Given the description of an element on the screen output the (x, y) to click on. 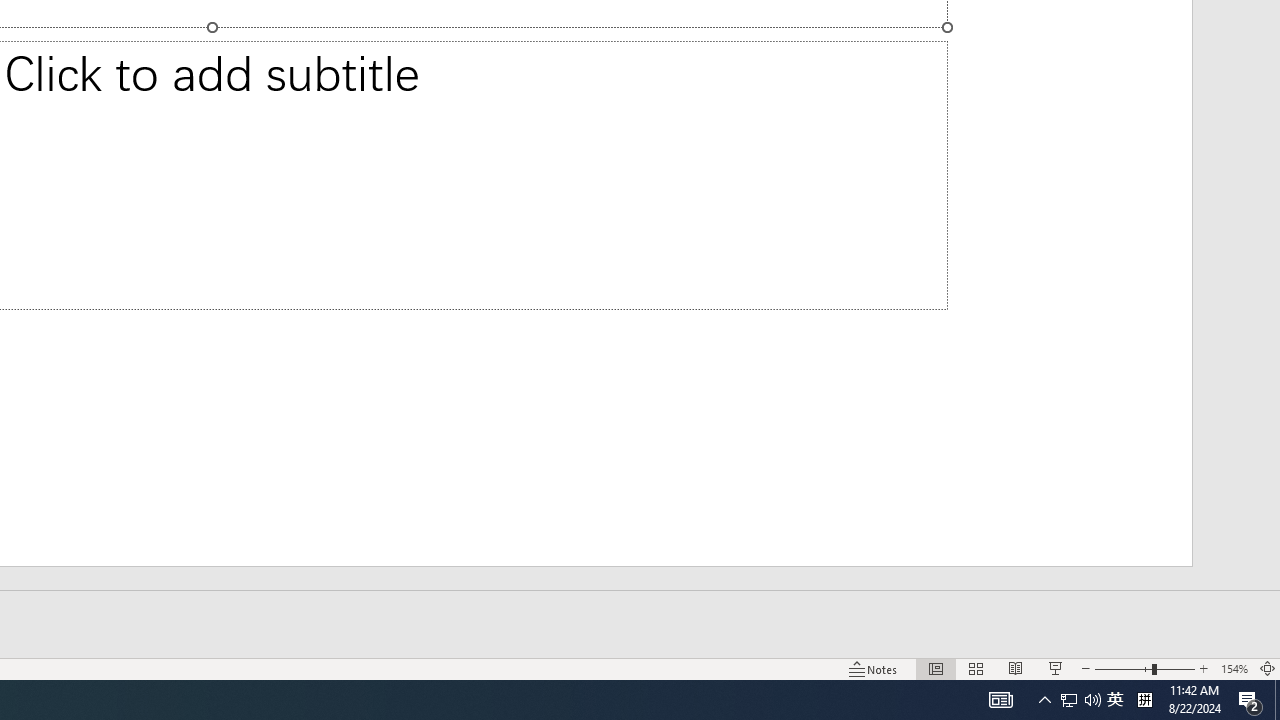
Zoom 154% (1234, 668)
